Given the description of an element on the screen output the (x, y) to click on. 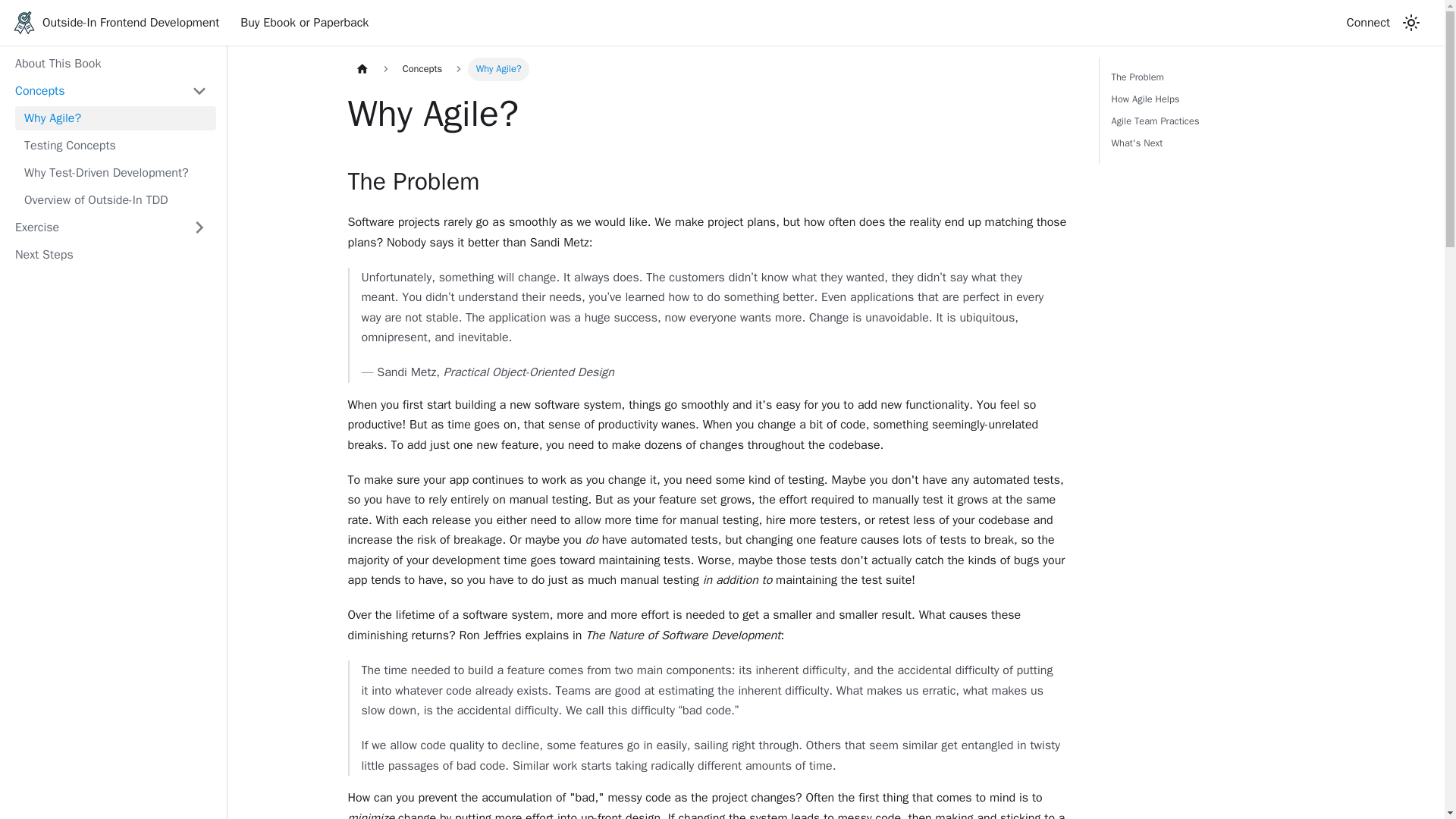
Outside-In Frontend Development (115, 22)
Testing Concepts (114, 145)
Overview of Outside-In TDD (114, 200)
How Agile Helps (1210, 110)
The Problem (1215, 99)
Buy Ebook or Paperback (1215, 77)
What's Next (304, 22)
Connect (1215, 143)
About This Book (1368, 22)
